Given the description of an element on the screen output the (x, y) to click on. 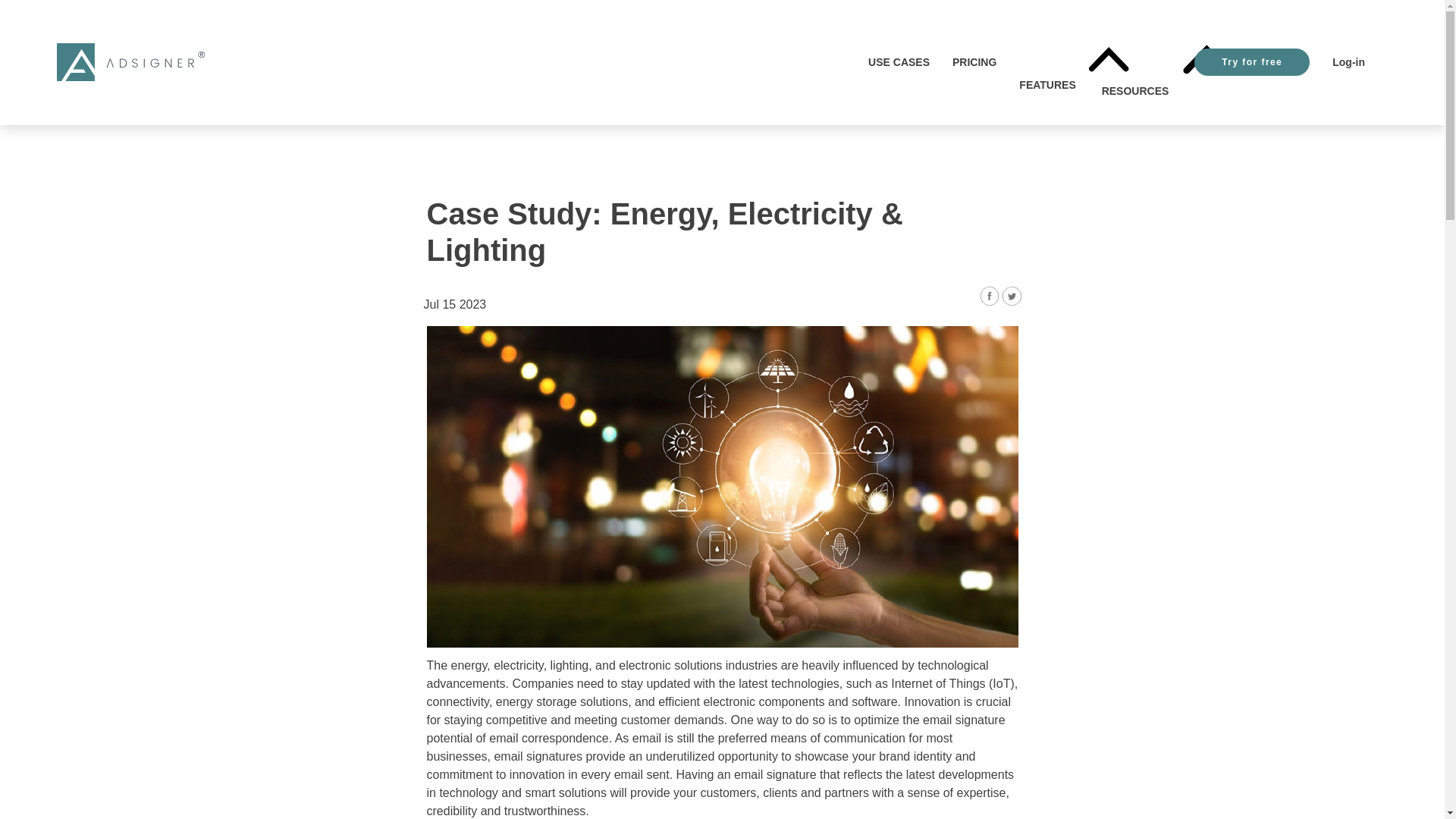
PRICING (973, 62)
Log-in (1348, 62)
FEATURES (1048, 62)
USE CASES (898, 62)
Try for free (1250, 62)
RESOURCES (1137, 62)
